Given the description of an element on the screen output the (x, y) to click on. 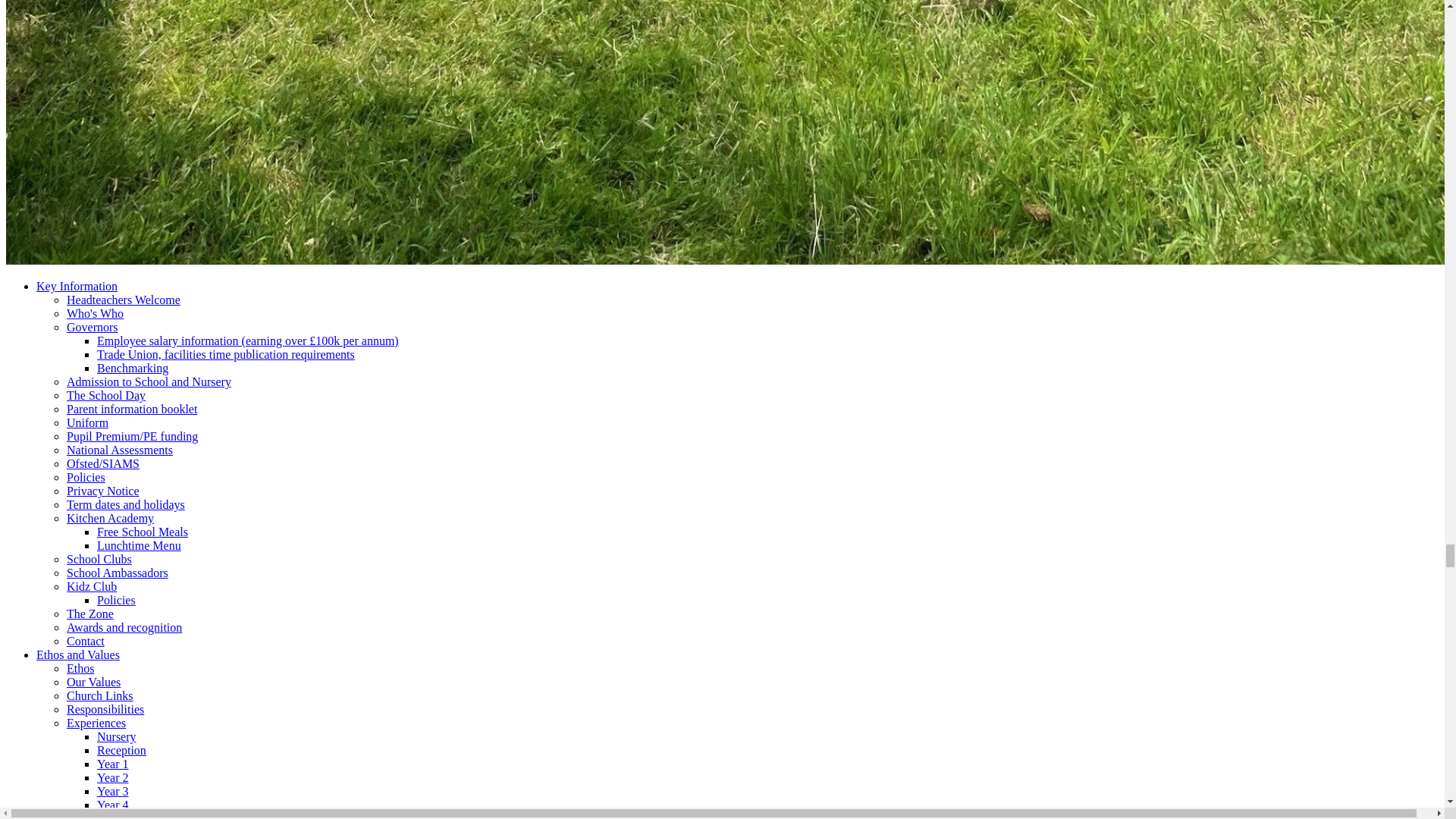
Church Links (99, 695)
Policies (85, 477)
Nursery (116, 736)
Awards and recognition (124, 626)
Trade Union, facilities time publication requirements (226, 354)
School Ambassadors (117, 572)
Benchmarking (132, 367)
Experiences (95, 722)
Ethos (80, 667)
The Zone (89, 613)
Uniform (86, 422)
Responsibilities (105, 708)
National Assessments (119, 449)
Who's Who (94, 313)
The School Day (105, 395)
